Given the description of an element on the screen output the (x, y) to click on. 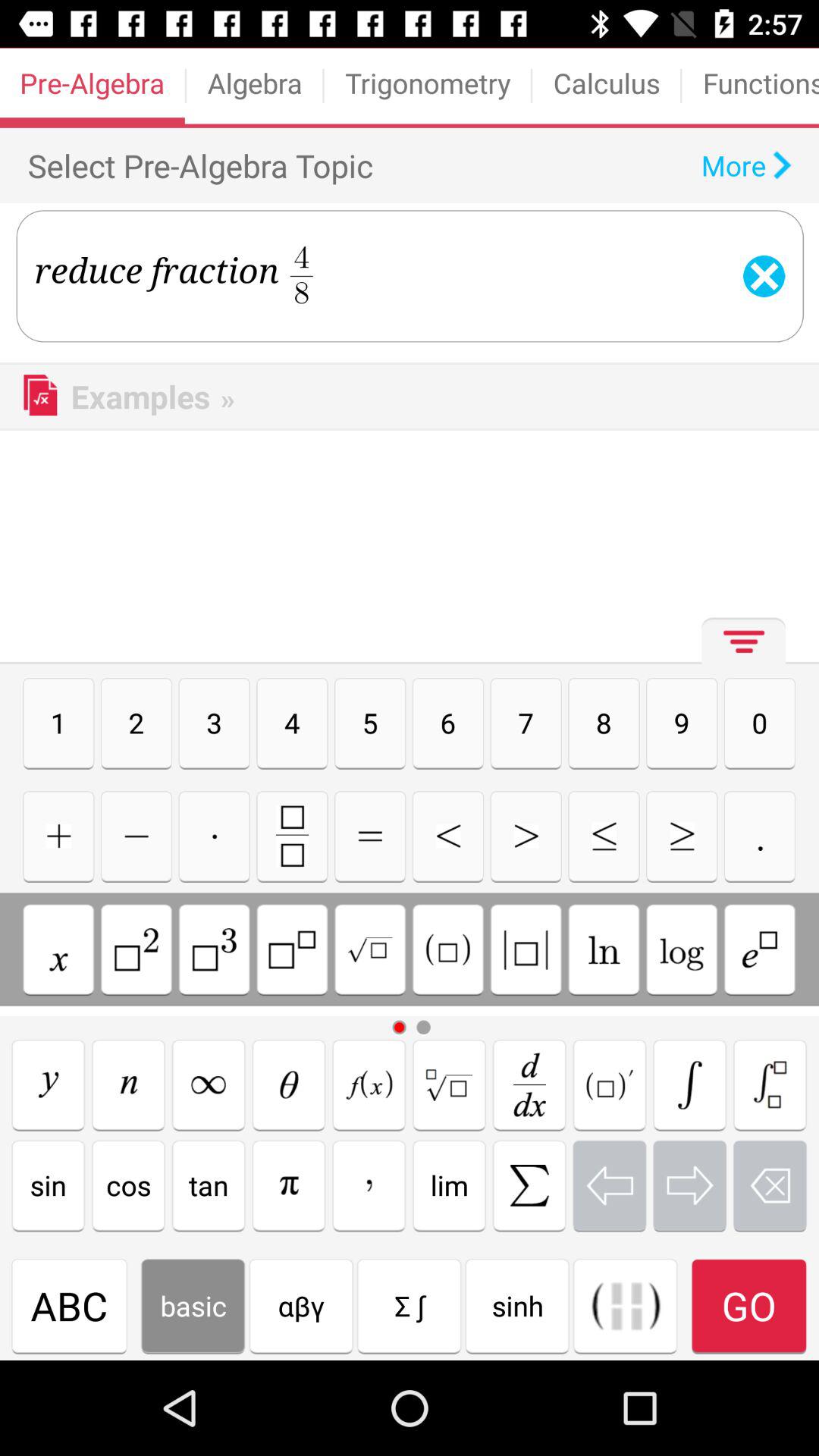
point type (759, 835)
